Given the description of an element on the screen output the (x, y) to click on. 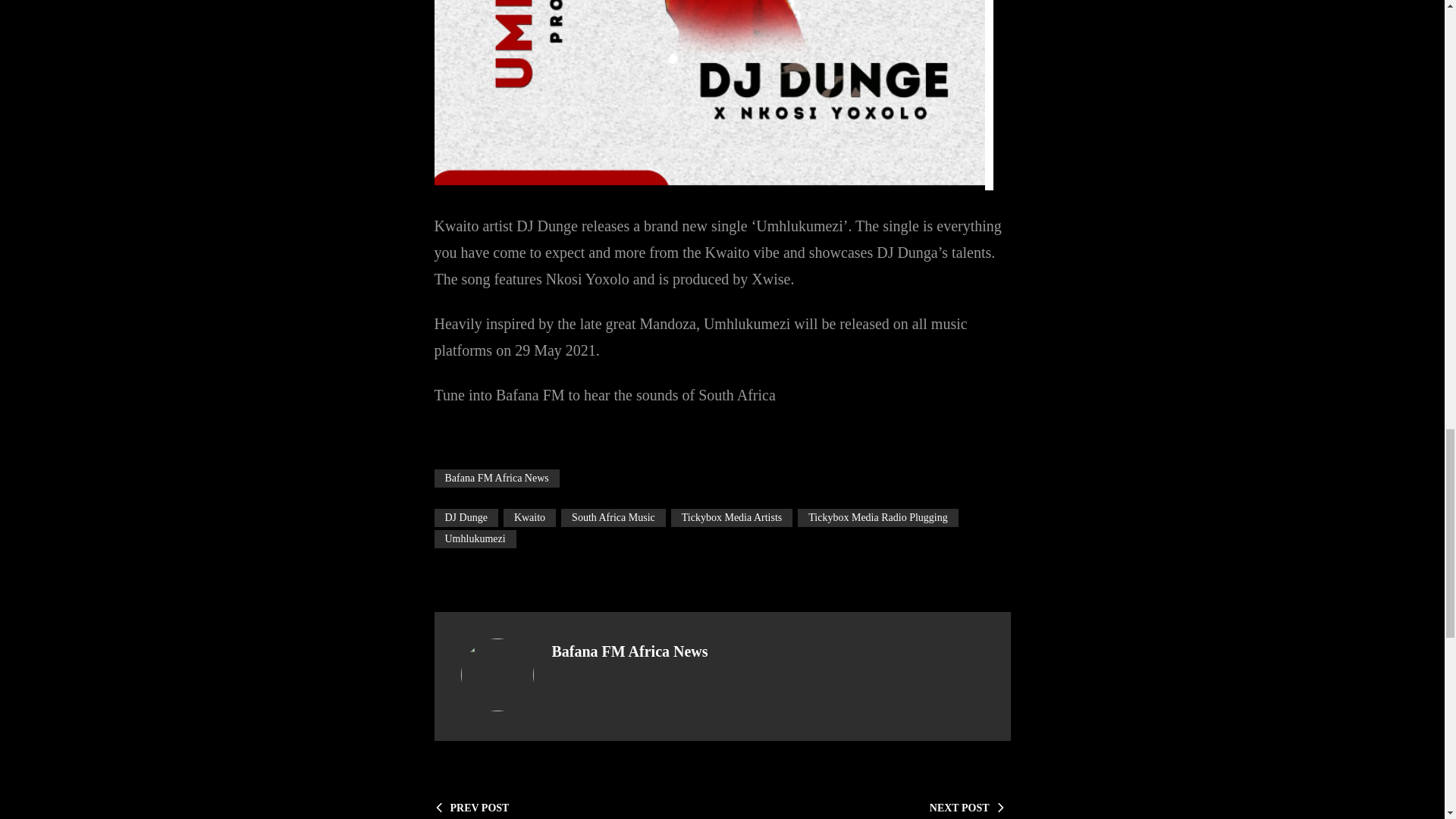
Umhlukumezi (474, 538)
South Africa Music (612, 517)
Bafana FM Africa News (496, 478)
DJ Dunge (465, 517)
Kwaito (529, 517)
Tickybox Media Radio Plugging (877, 517)
Tickybox Media Artists (732, 517)
